Given the description of an element on the screen output the (x, y) to click on. 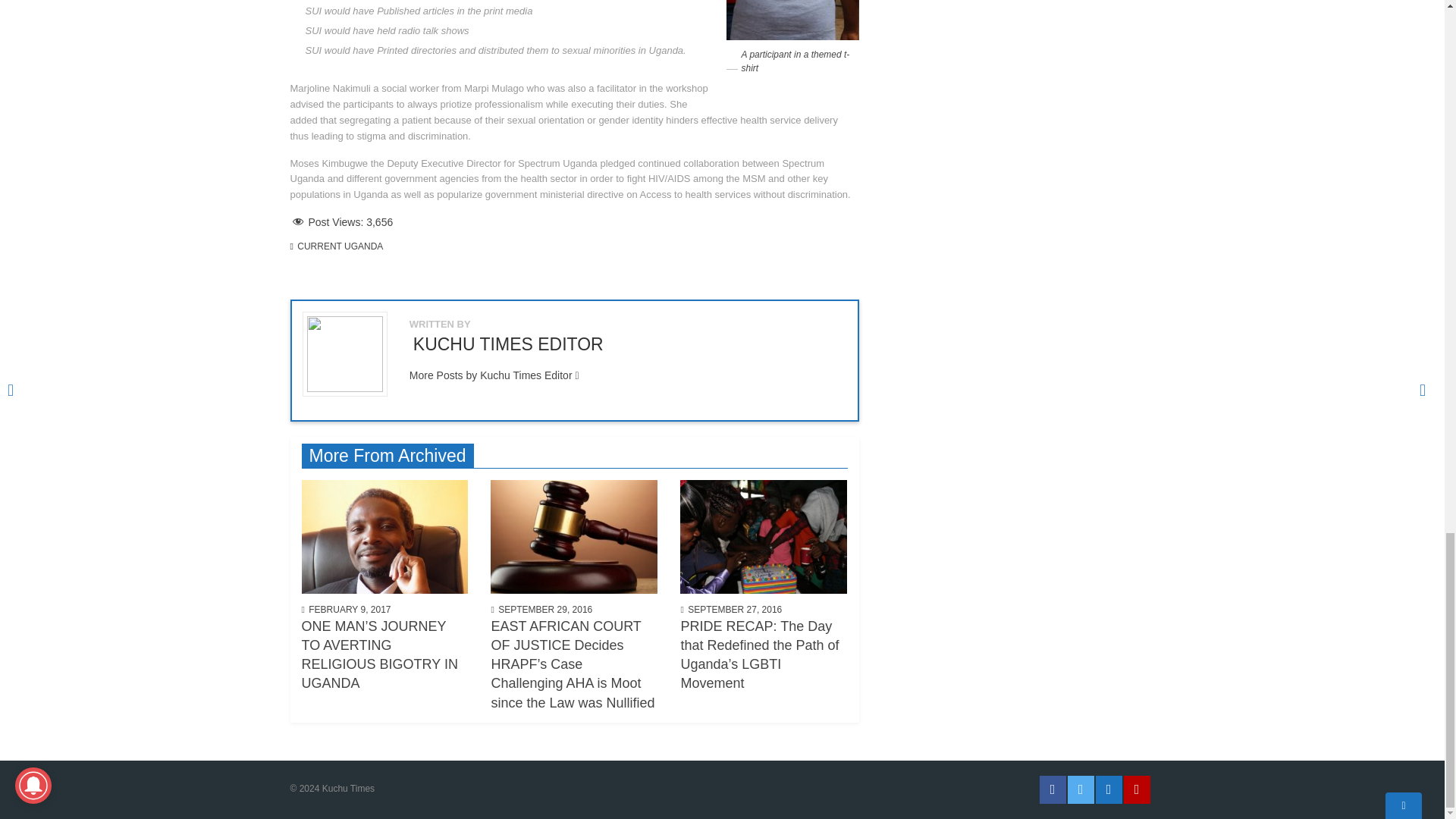
Twitter (1080, 789)
Facebook (1052, 789)
YouTube (1137, 789)
Instagram (1107, 789)
